Given the description of an element on the screen output the (x, y) to click on. 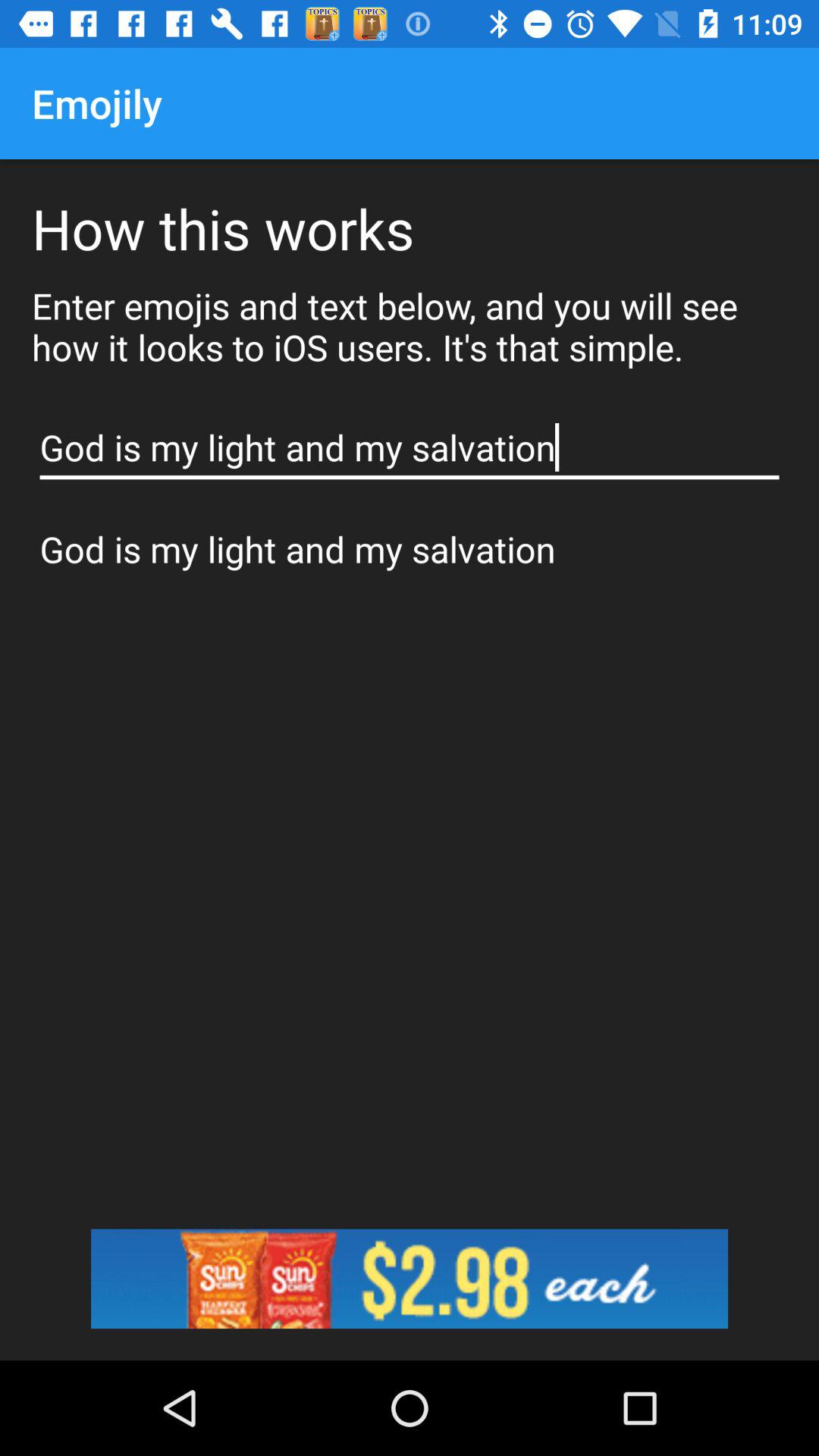
advertisement (409, 1278)
